Given the description of an element on the screen output the (x, y) to click on. 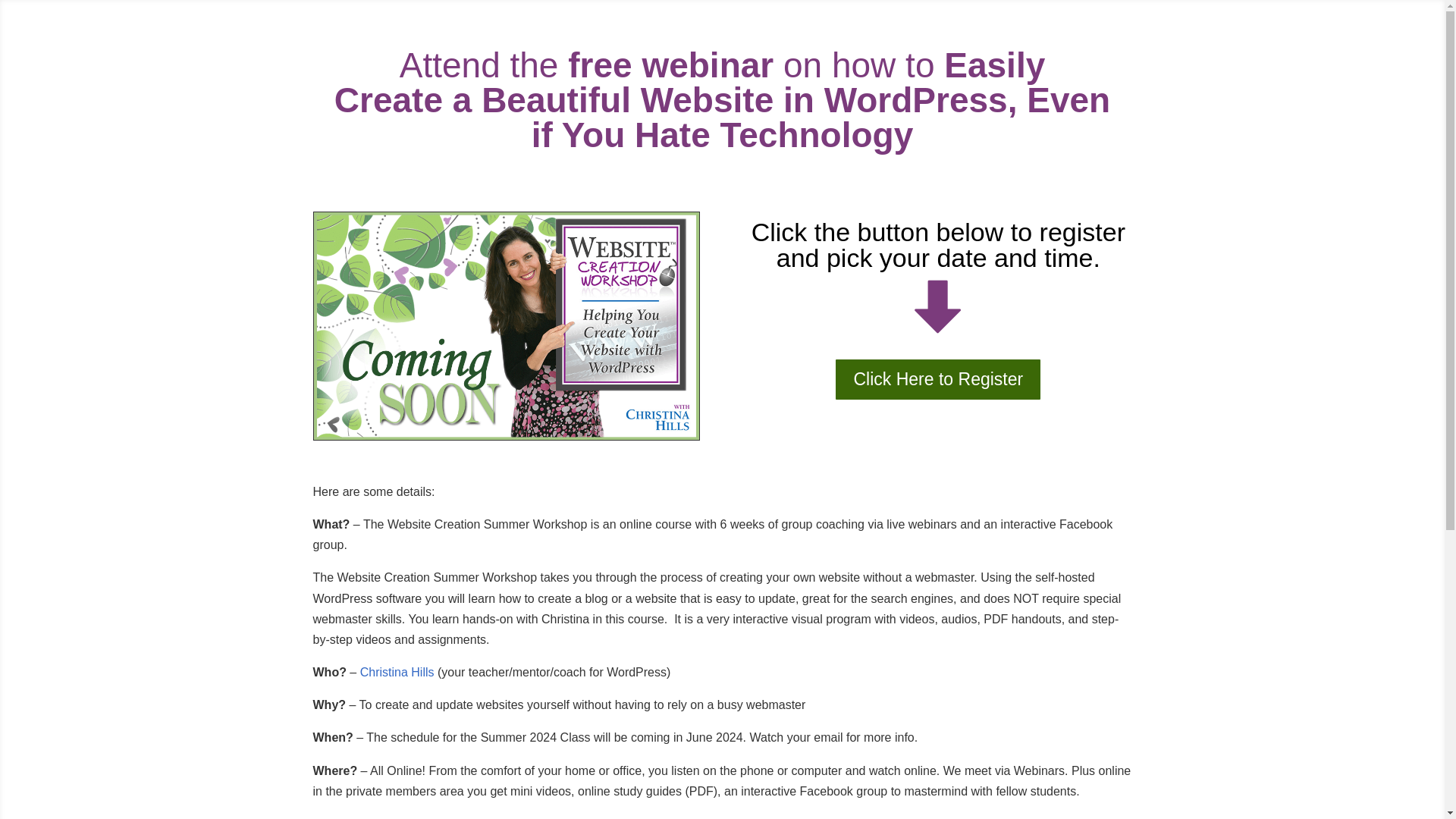
Christina Hills (396, 671)
Click Here to Register (938, 379)
wcw-generic-comingsoon-950x560-v08-tny (506, 325)
